Given the description of an element on the screen output the (x, y) to click on. 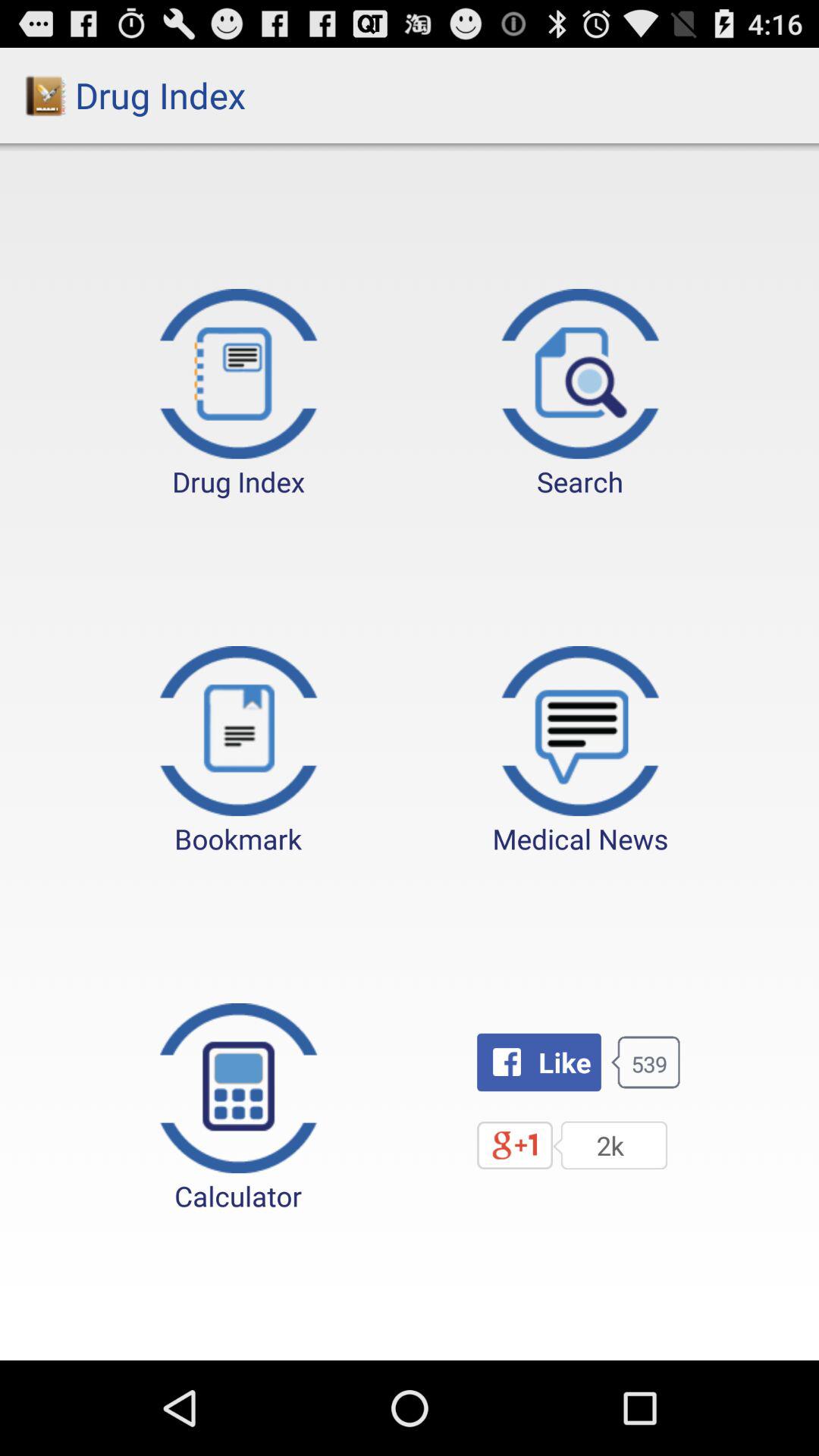
flip to the like icon (539, 1062)
